Given the description of an element on the screen output the (x, y) to click on. 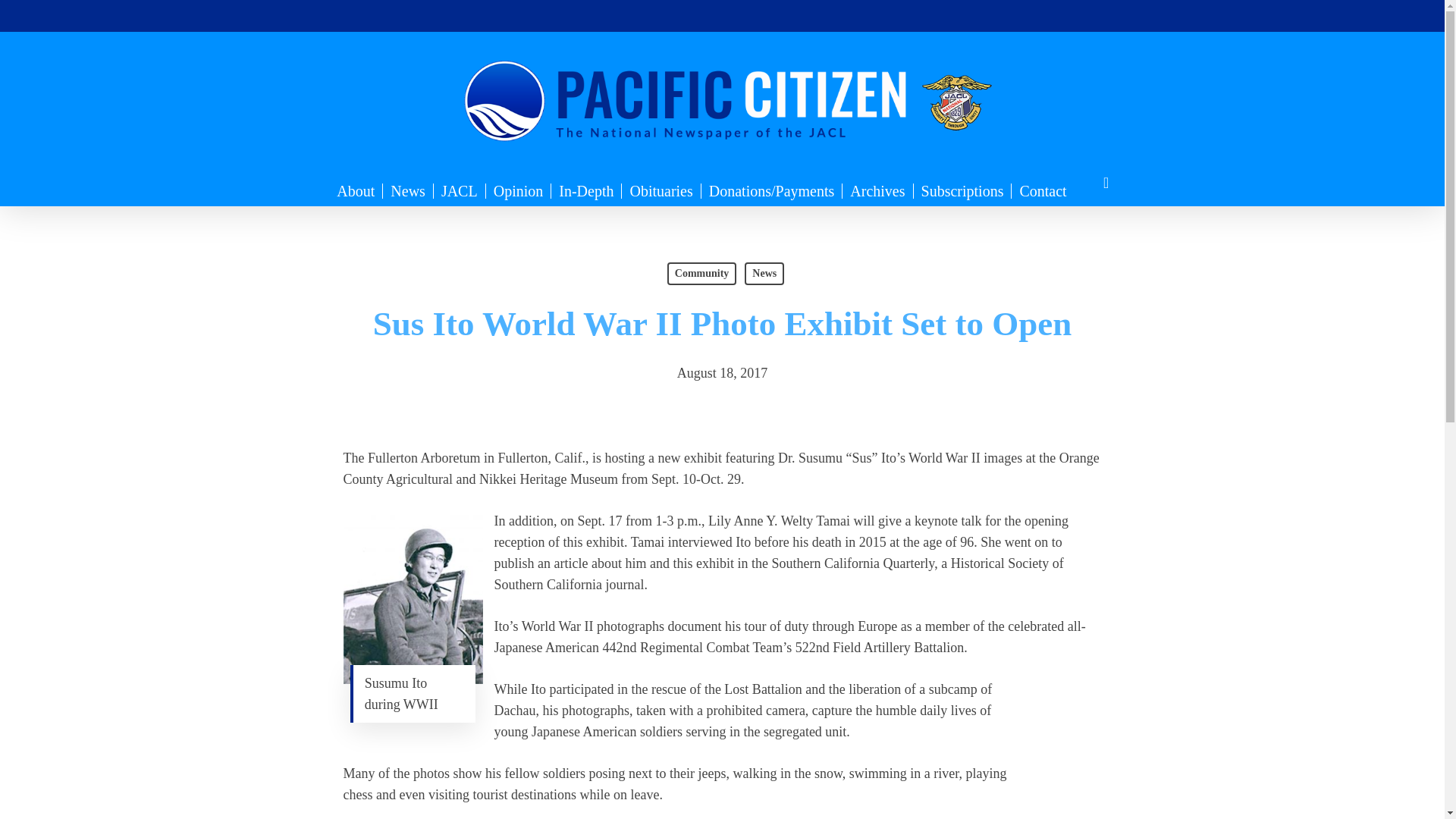
Obituaries (660, 191)
JACL (459, 191)
In-Depth (586, 191)
Archives (877, 191)
Subscriptions (962, 191)
Opinion (518, 191)
Contact (1042, 191)
News (407, 191)
About (355, 191)
search (1106, 182)
